Given the description of an element on the screen output the (x, y) to click on. 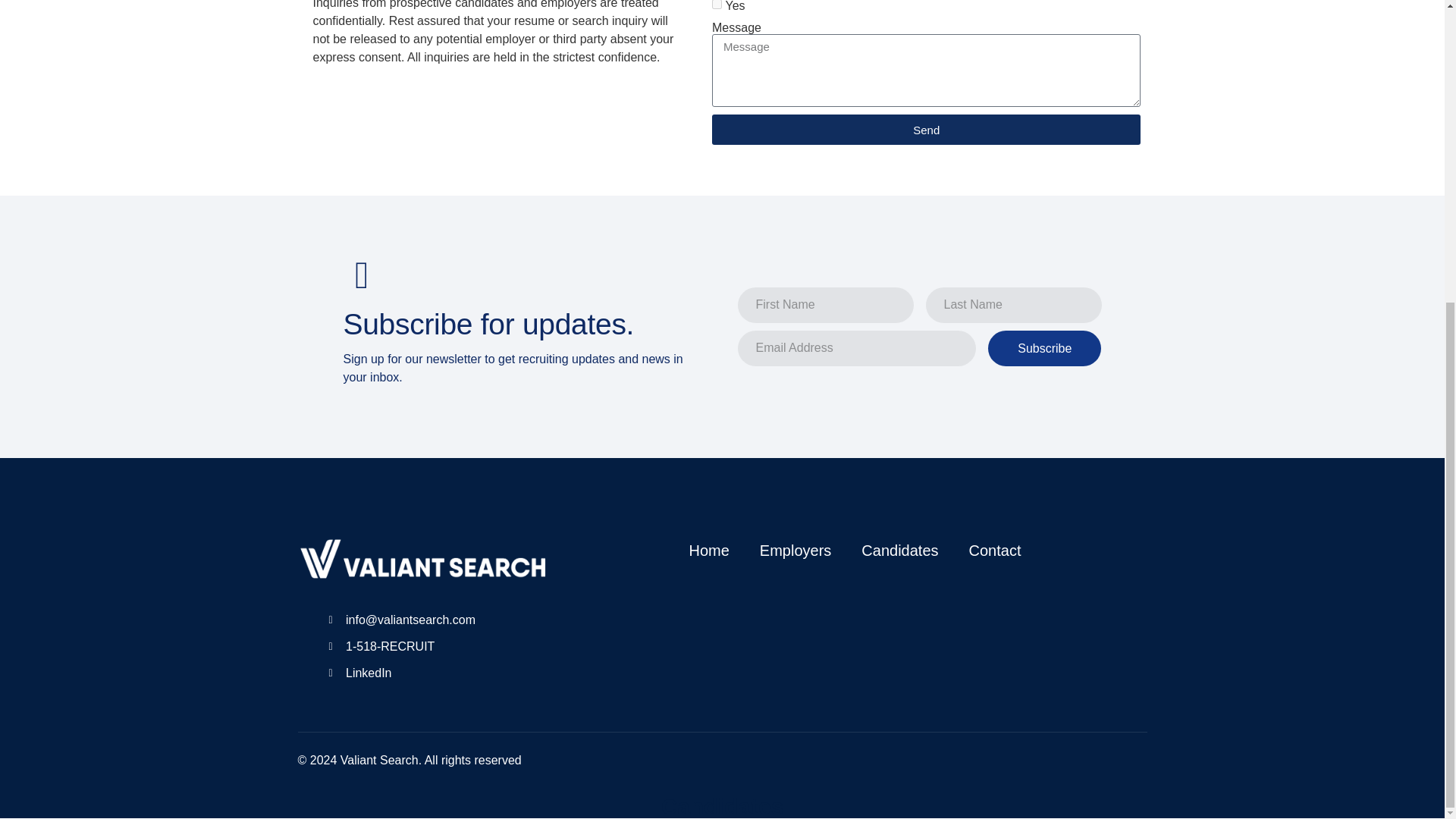
Home (708, 549)
LinkedIn (438, 673)
Subscribe (1044, 348)
Candidates (899, 549)
1-518-RECRUIT (438, 647)
Yes (716, 4)
Contact (994, 549)
Send (925, 129)
Employers (794, 549)
